Given the description of an element on the screen output the (x, y) to click on. 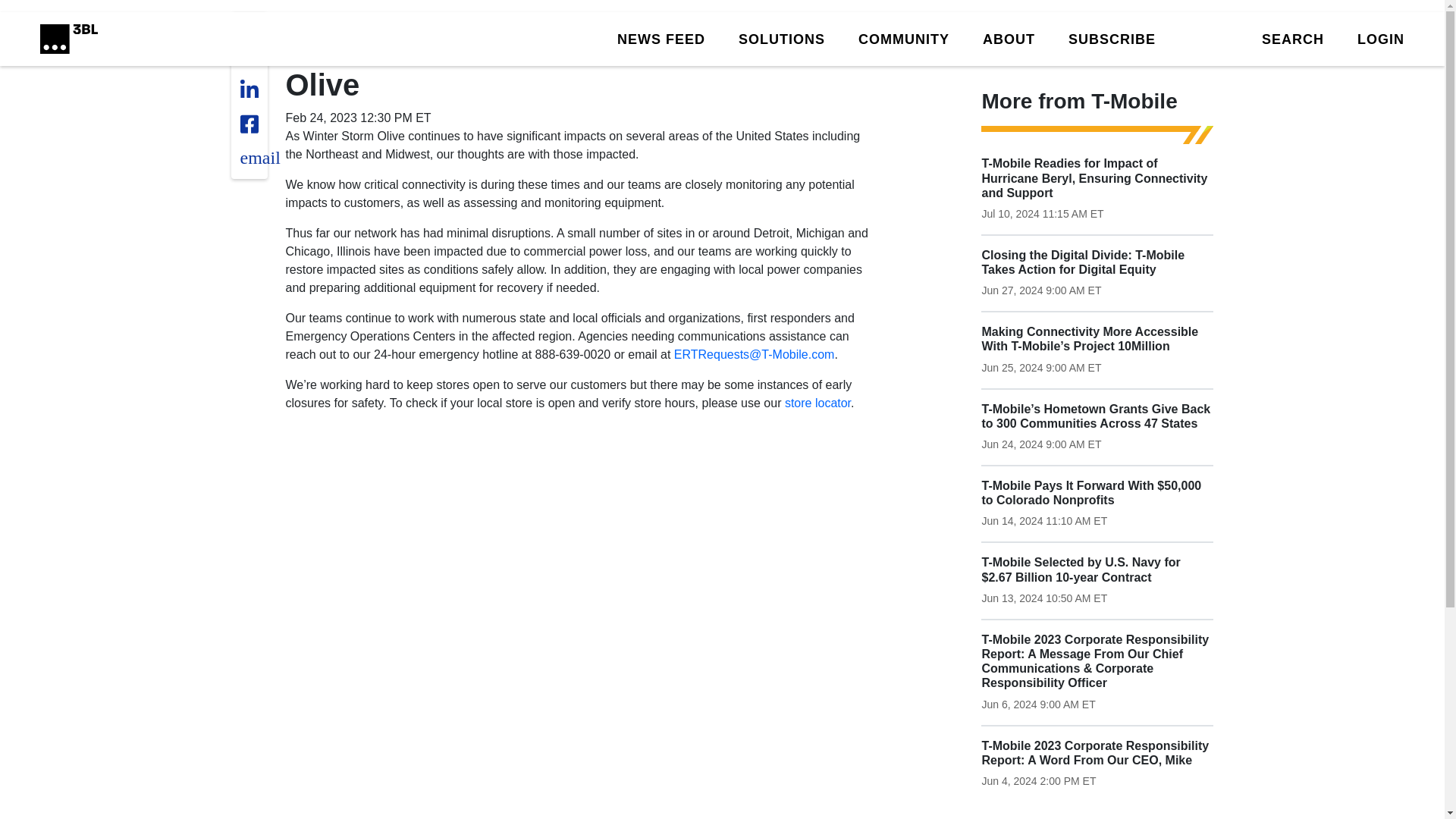
NEWS FEED (660, 38)
ABOUT (1008, 38)
SOLUTIONS (781, 38)
SUBSCRIBE (1112, 38)
Share via email (259, 157)
link to 3 B L Media's Twitter (253, 33)
COMMUNITY (904, 38)
